Given the description of an element on the screen output the (x, y) to click on. 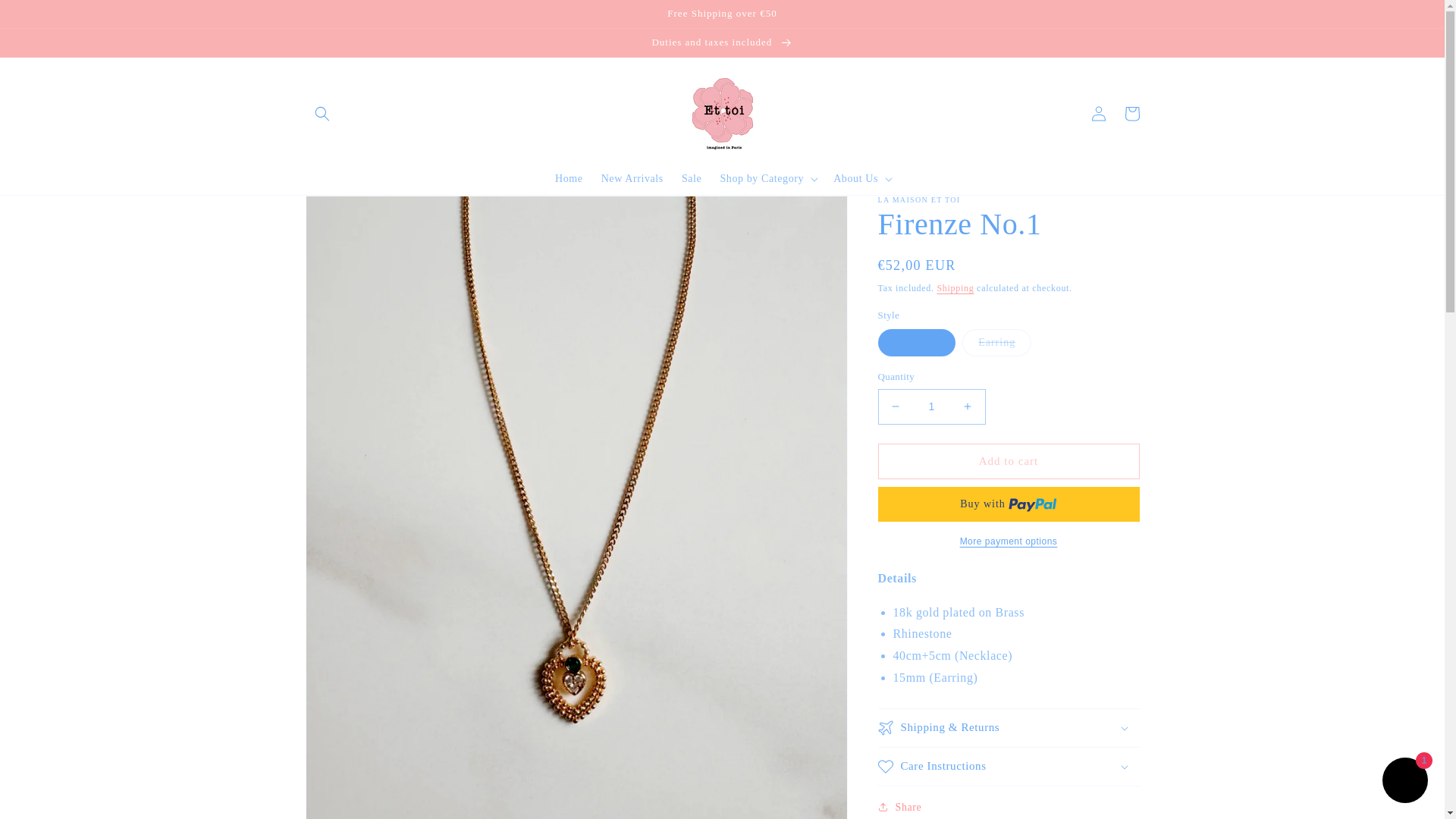
1 (931, 407)
Log in (1098, 113)
Skip to content (45, 17)
Sale (691, 178)
New Arrivals (632, 178)
Home (569, 178)
Cart (1131, 113)
Shopify online store chat (1404, 781)
